Given the description of an element on the screen output the (x, y) to click on. 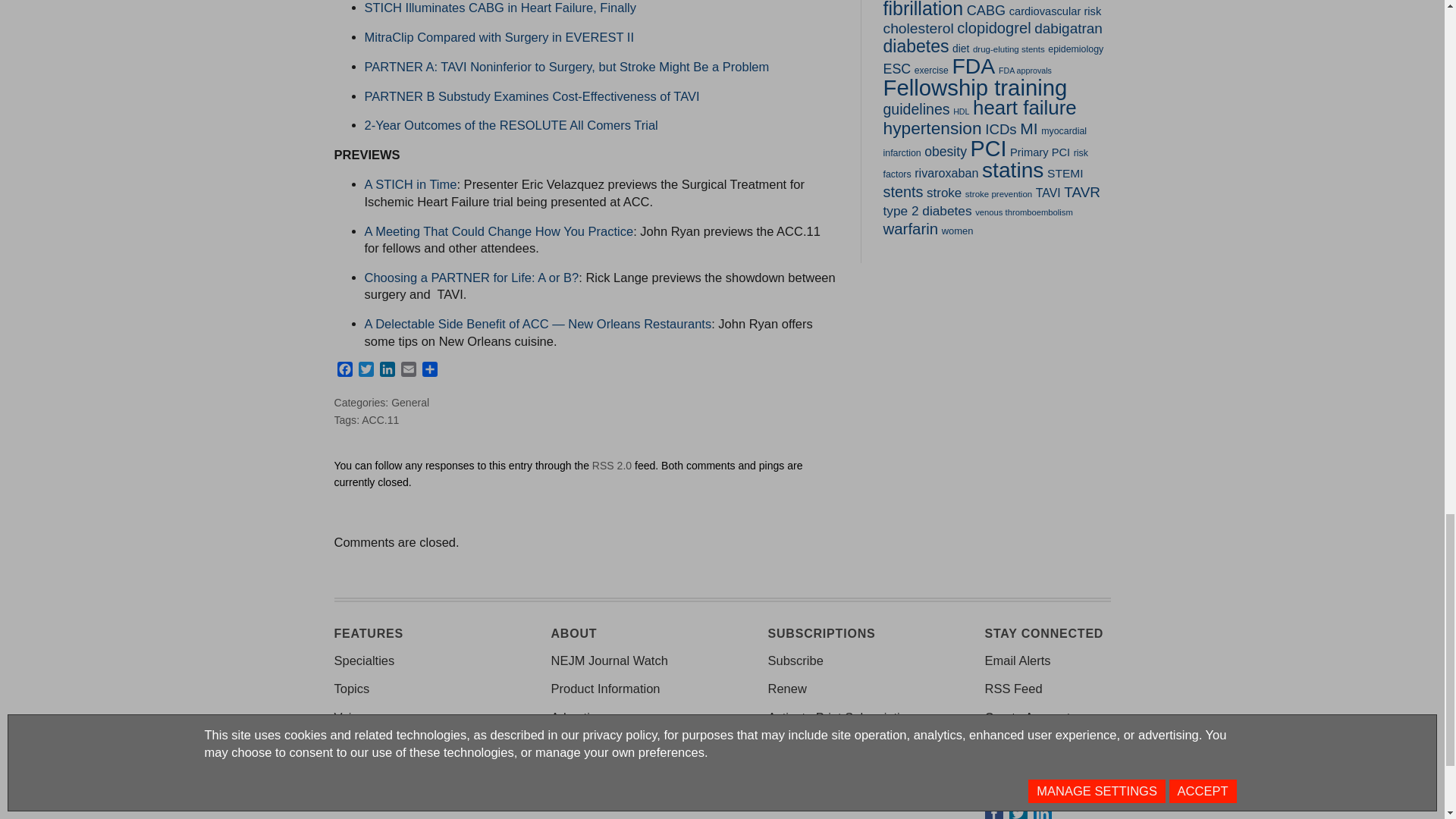
Email (408, 371)
Facebook (344, 371)
LinkedIn (386, 371)
Twitter (365, 371)
Permanent Link to Choosing a PARTNER for Life: A or B? (471, 277)
